Given the description of an element on the screen output the (x, y) to click on. 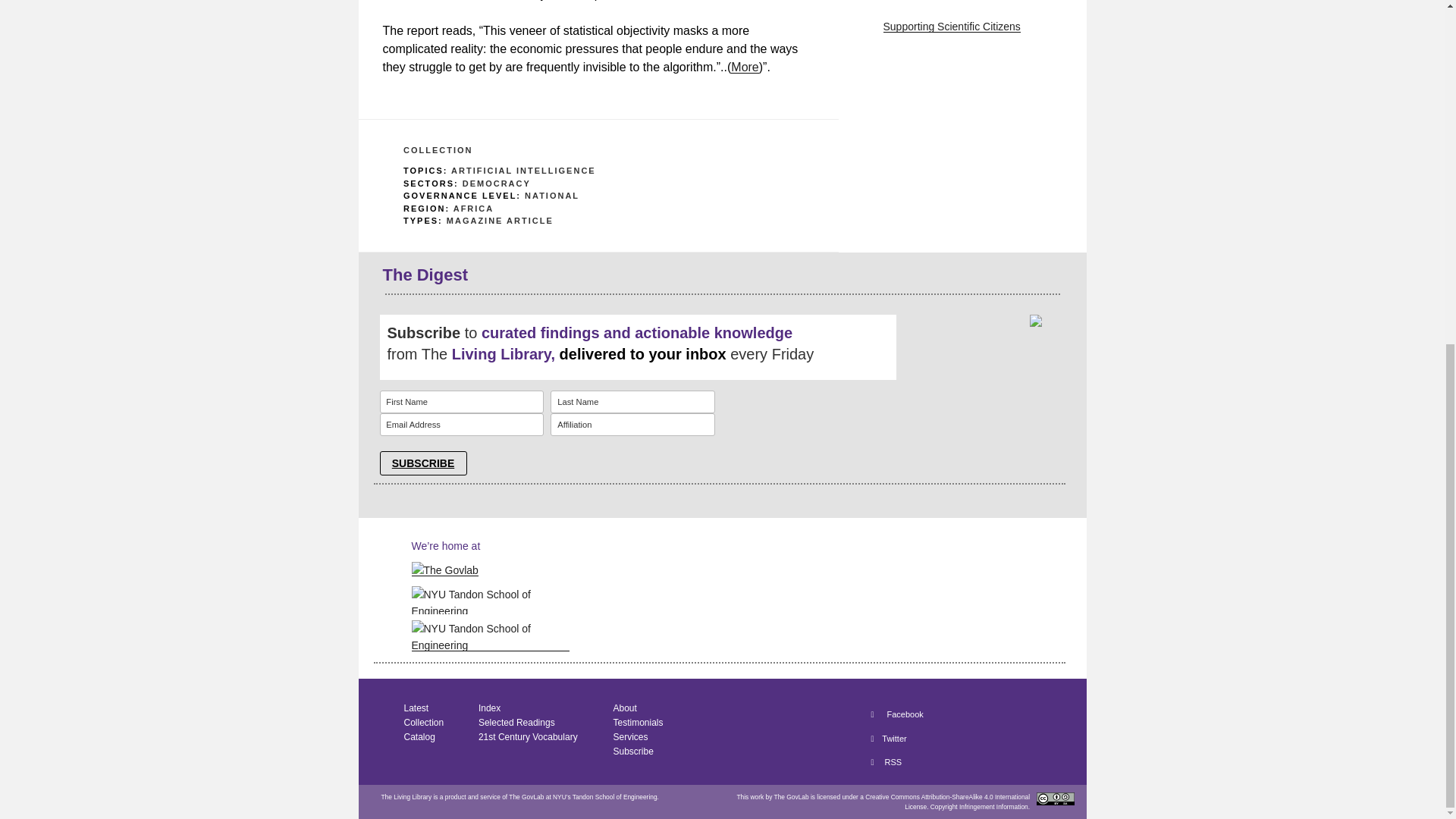
SUBSCRIBE (421, 463)
NATIONAL (551, 194)
SUBSCRIBE (421, 463)
Supporting Scientific Citizens (951, 26)
More (744, 66)
COLLECTION (438, 149)
AFRICA (473, 207)
MAGAZINE ARTICLE (499, 220)
ARTIFICIAL INTELLIGENCE (523, 170)
DEMOCRACY (497, 183)
